Given the description of an element on the screen output the (x, y) to click on. 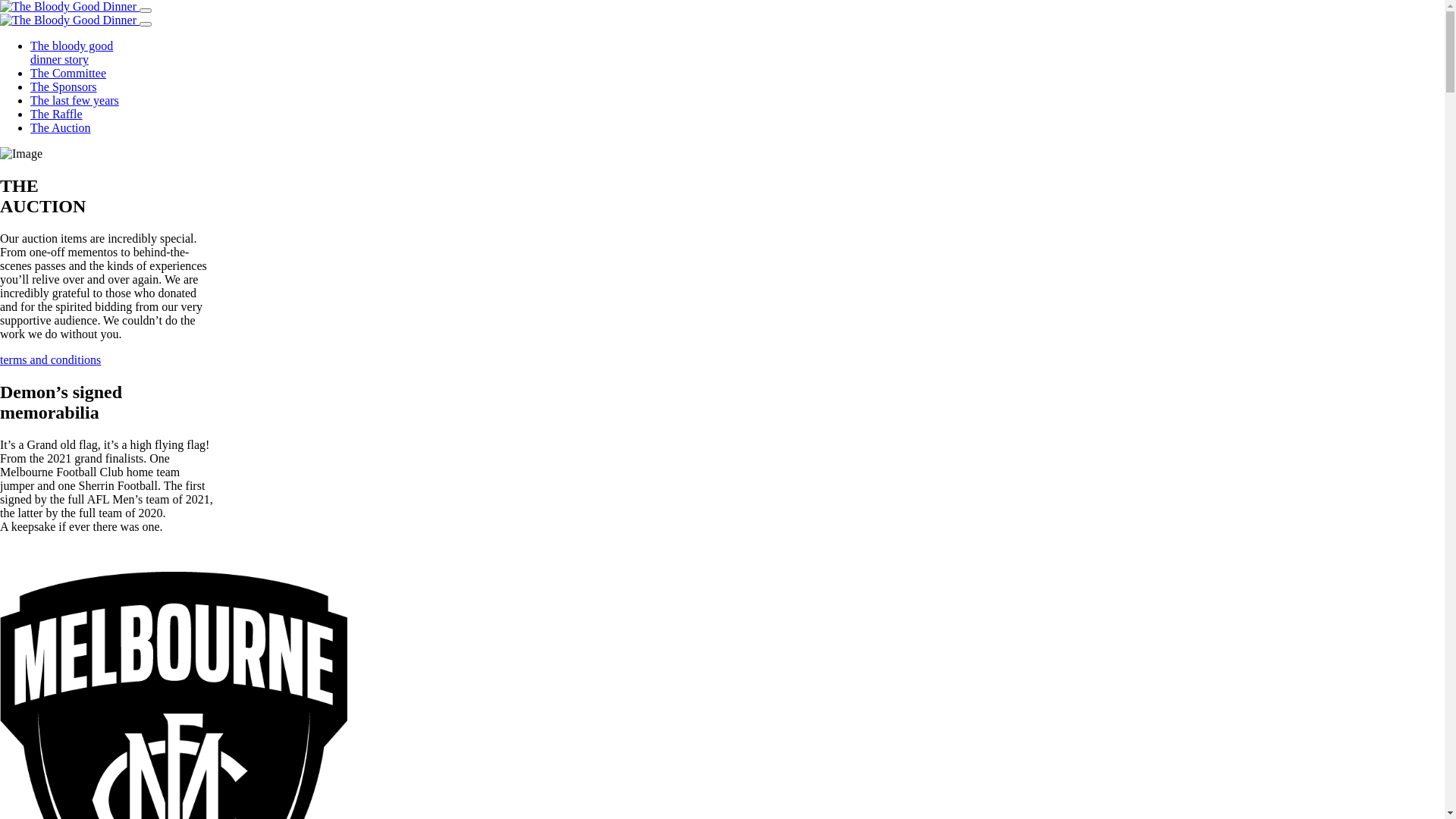
The last few years Element type: text (74, 100)
The bloody good
dinner story Element type: text (71, 52)
The Auction Element type: text (60, 127)
The Raffle Element type: text (56, 113)
The Committee Element type: text (68, 72)
 The Bloody Good Dinner Element type: hover (68, 20)
 The Bloody Good Dinner Element type: hover (68, 6)
The Sponsors Element type: text (63, 86)
terms and conditions Element type: text (50, 359)
